Given the description of an element on the screen output the (x, y) to click on. 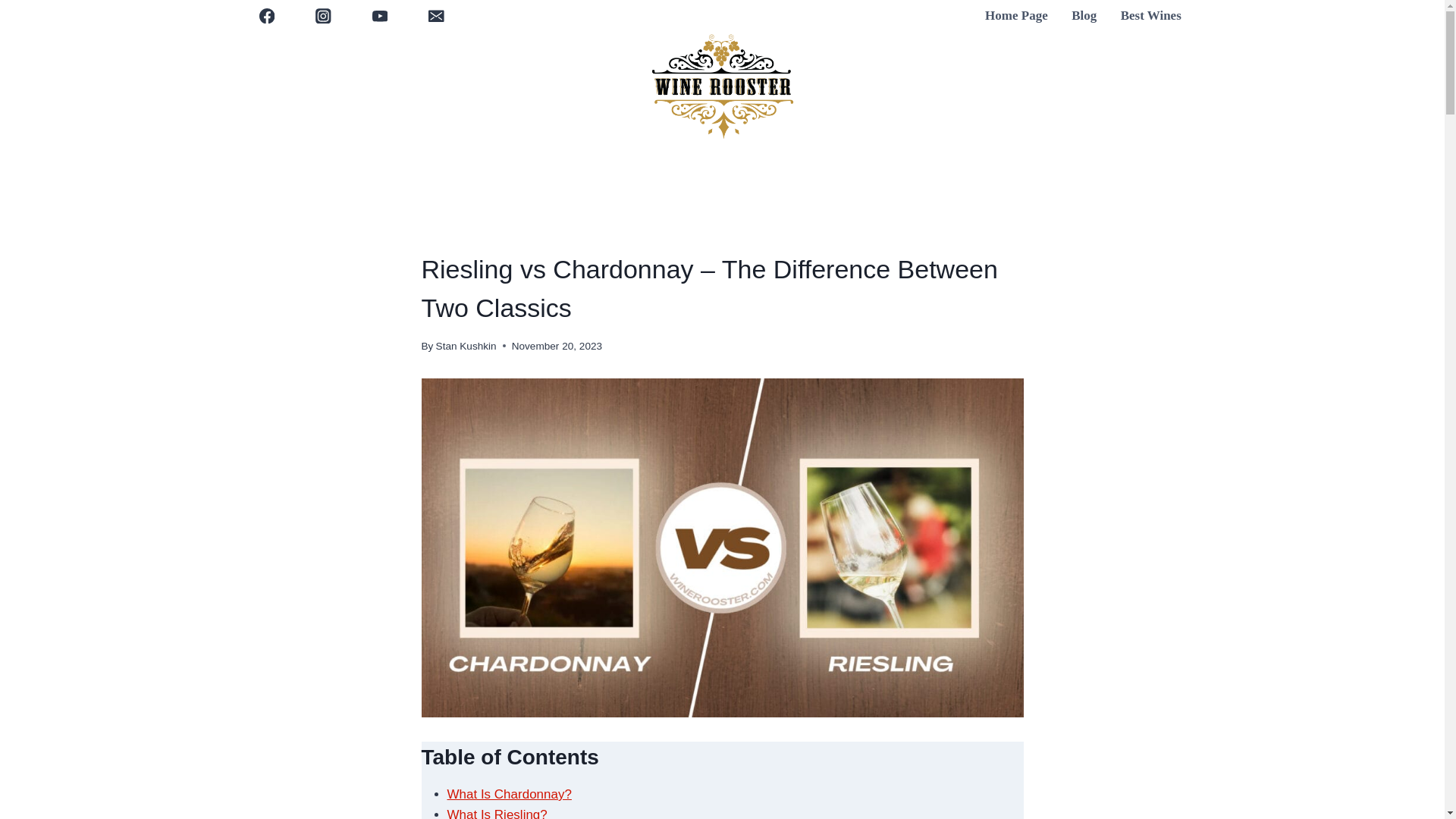
What Is Chardonnay? (509, 794)
Stan Kushkin (465, 346)
Blog (1083, 15)
Home Page (1015, 15)
CHARDONNAY (510, 237)
Best Wines (1150, 15)
RIESLING (444, 237)
What Is Riesling? (496, 813)
